Given the description of an element on the screen output the (x, y) to click on. 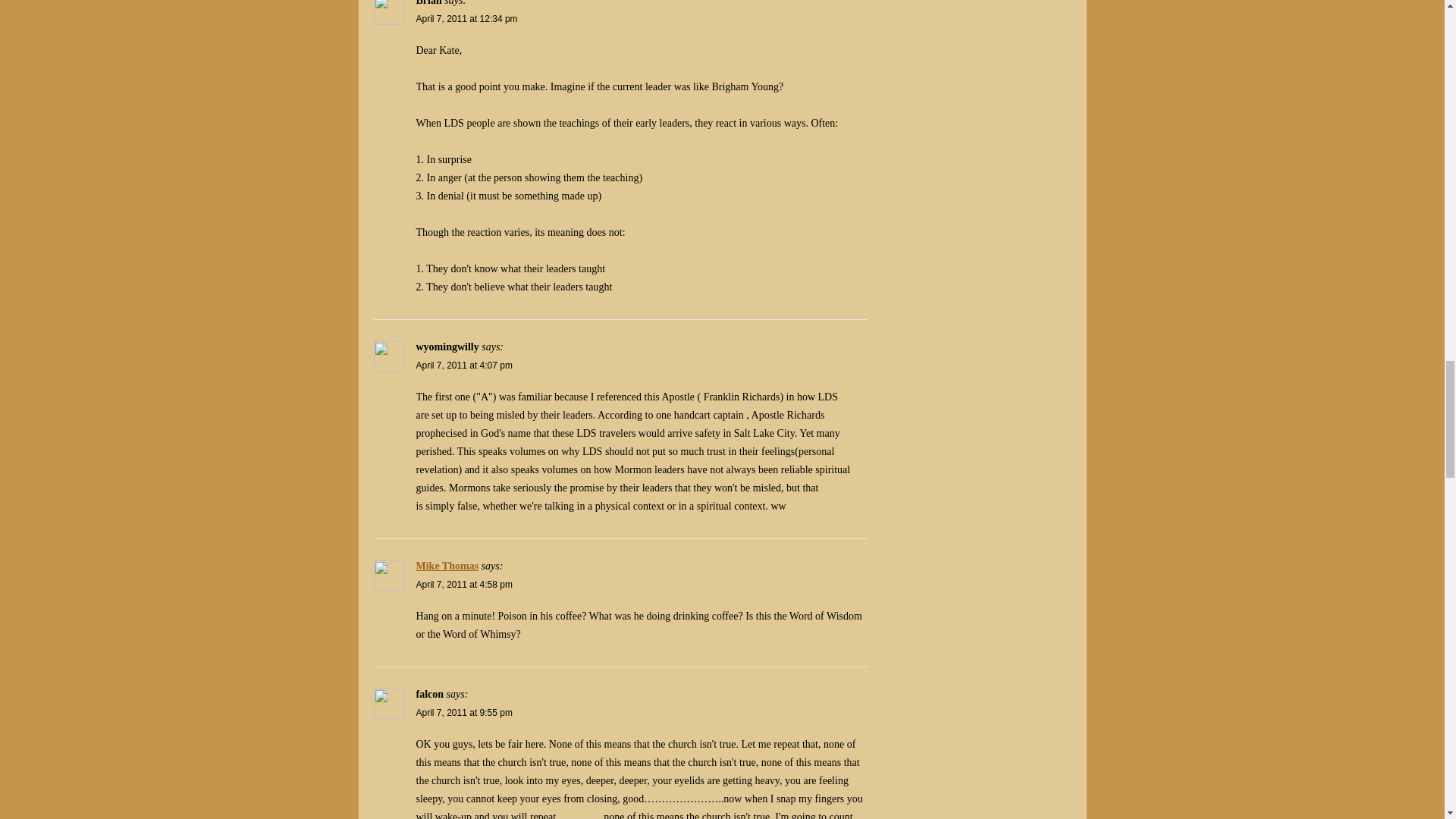
Mike Thomas (446, 565)
April 7, 2011 at 4:07 pm (463, 365)
April 7, 2011 at 4:58 pm (463, 584)
April 7, 2011 at 12:34 pm (465, 18)
April 7, 2011 at 9:55 pm (463, 712)
